Given the description of an element on the screen output the (x, y) to click on. 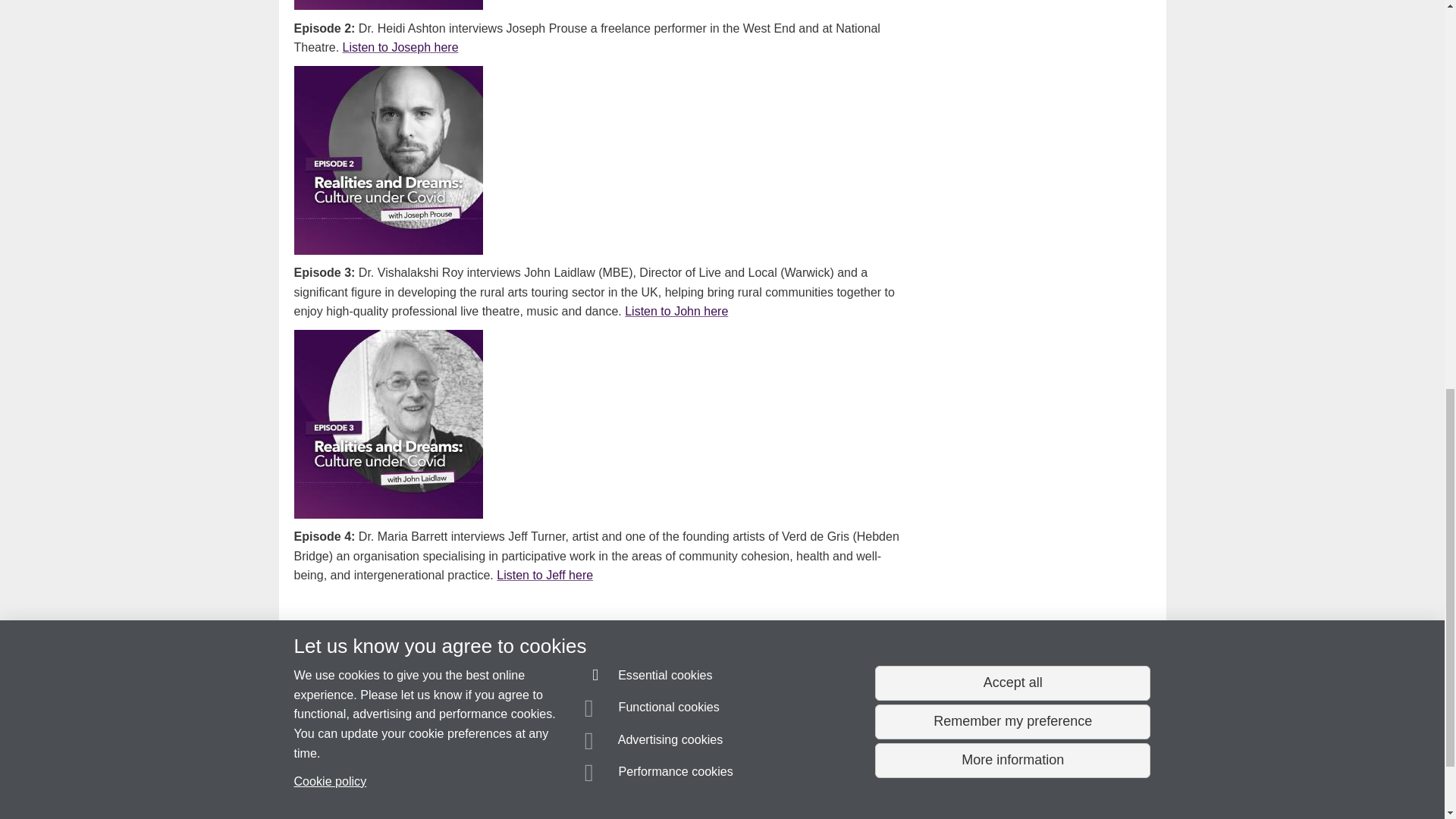
University of Warwick on Facebook (1032, 687)
University of Warwick on Twitter (1118, 687)
University of Warwick on YouTube (1076, 687)
